Given the description of an element on the screen output the (x, y) to click on. 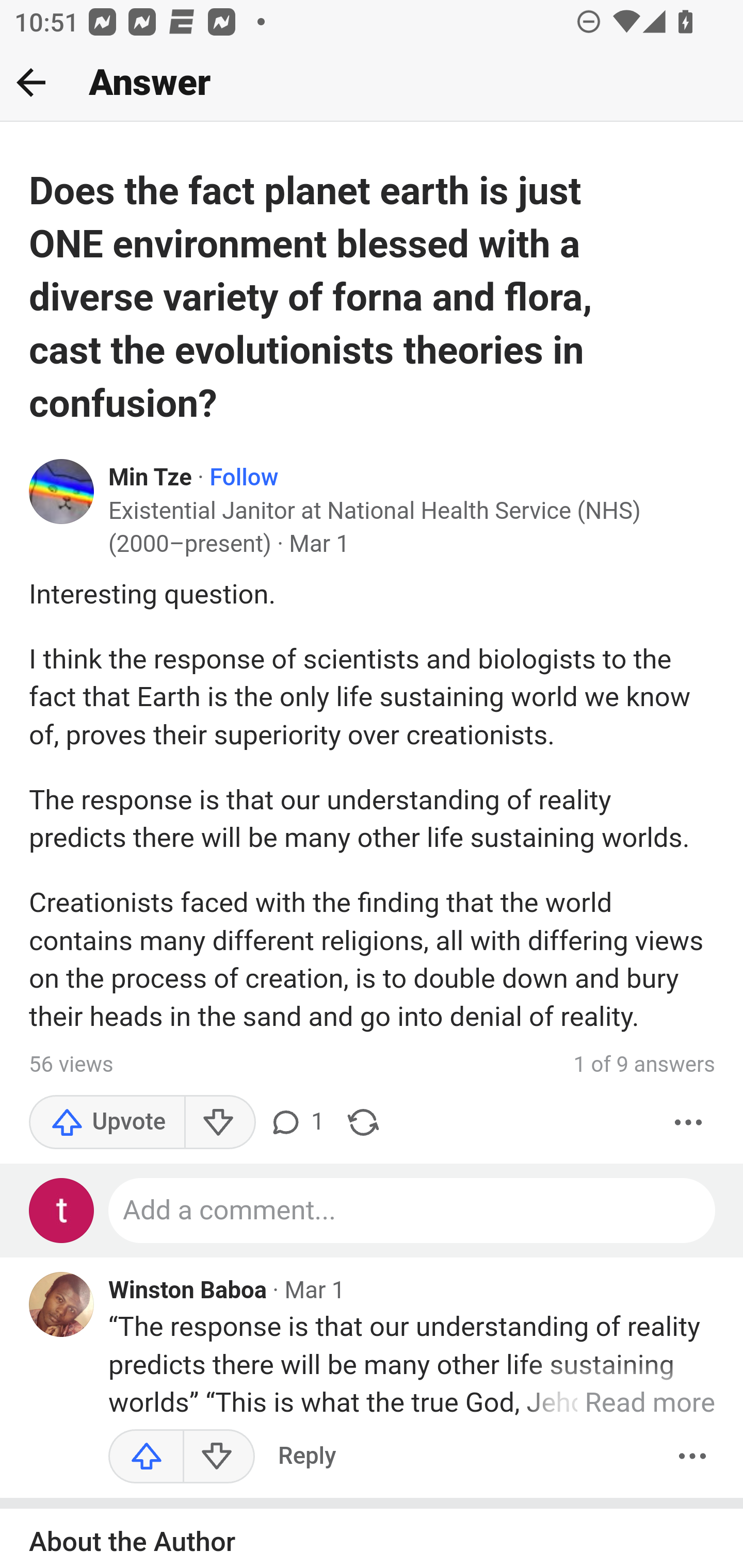
Back (30, 82)
Profile photo for Min Tze (61, 491)
Min Tze (150, 477)
Follow (244, 477)
1 of 9 answers (644, 1064)
Upvote (106, 1122)
Downvote (219, 1122)
1 comment (295, 1122)
Share (363, 1122)
More (688, 1122)
Profile photo for Test Appium (61, 1210)
Add a comment... (412, 1210)
Profile photo for Winston Baboa (61, 1305)
Winston Baboa (187, 1290)
Upvote (146, 1456)
Downvote (218, 1456)
Reply (306, 1456)
More (691, 1456)
